Given the description of an element on the screen output the (x, y) to click on. 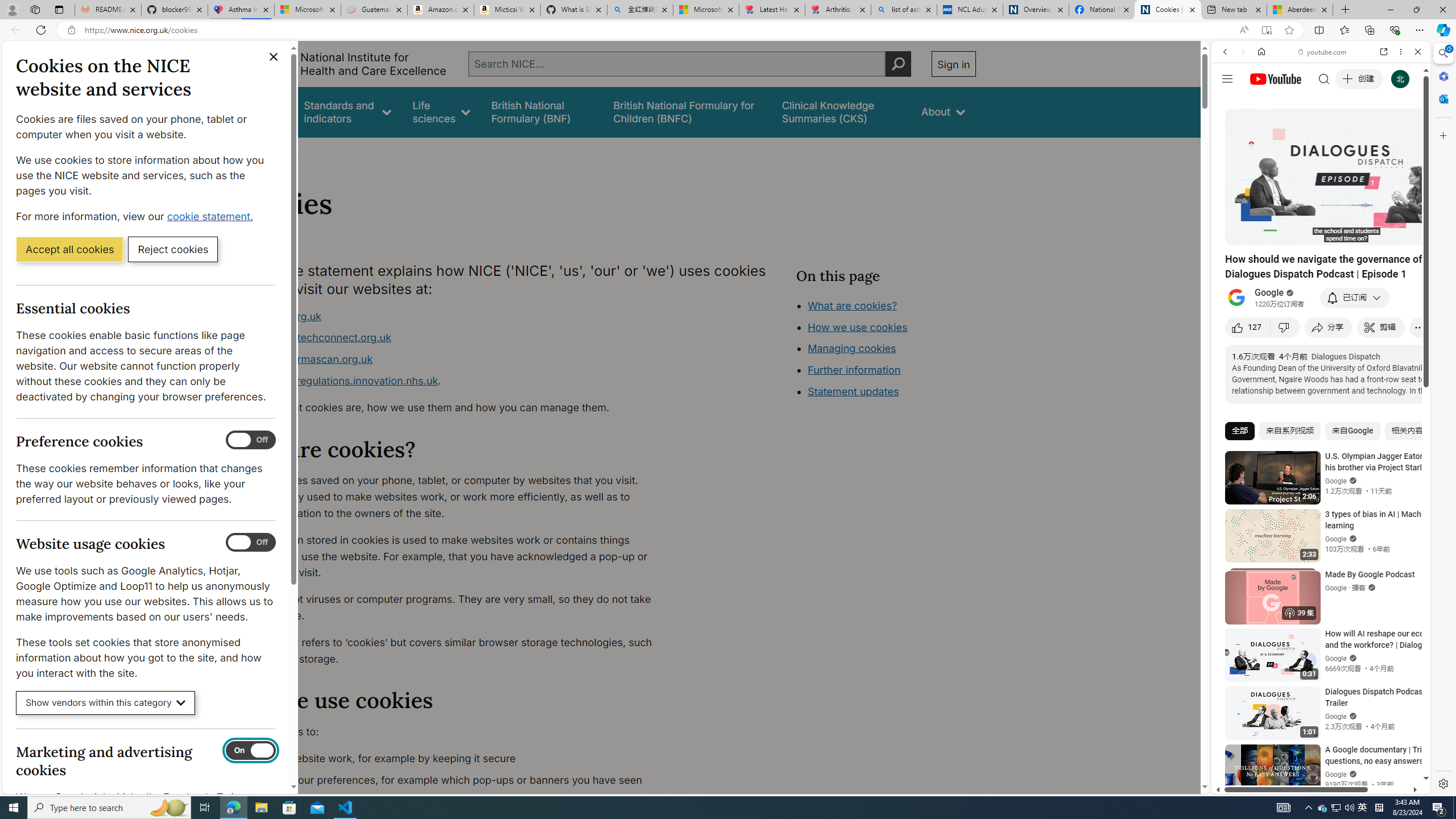
Life sciences (440, 111)
www.ukpharmascan.org.uk (305, 359)
www.digitalregulations.innovation.nhs.uk (338, 380)
Class: ytp-subtitles-button-icon (1368, 234)
Google (1320, 281)
